Given the description of an element on the screen output the (x, y) to click on. 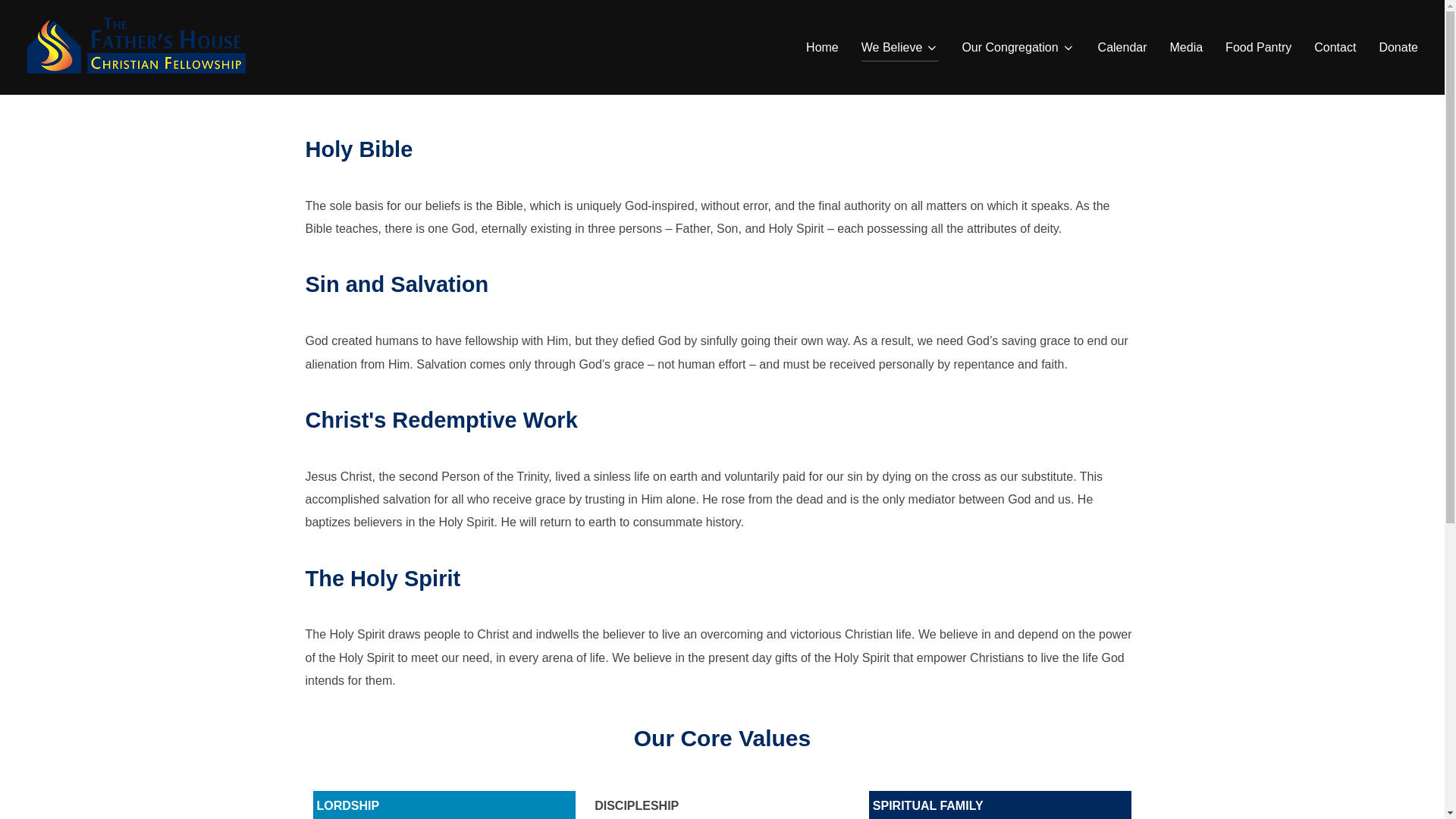
Food Pantry (1258, 47)
Home (822, 47)
Our Congregation (1017, 47)
Contact (1334, 47)
Media (1187, 47)
Calendar (1122, 47)
We Believe (900, 47)
Donate (1398, 47)
